Given the description of an element on the screen output the (x, y) to click on. 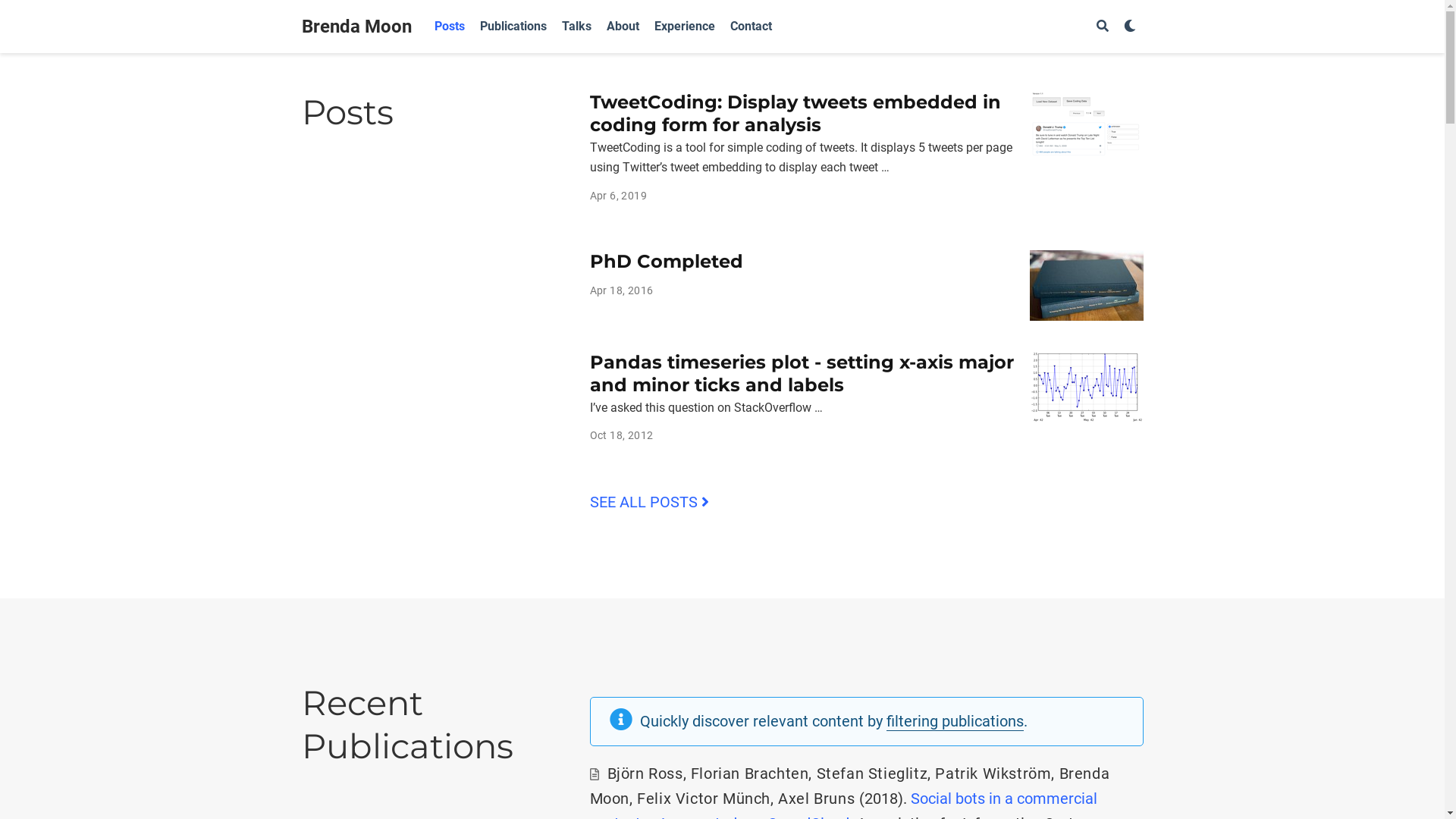
Talks Element type: text (575, 26)
filtering publications Element type: text (953, 721)
Posts Element type: text (448, 26)
Publications Element type: text (512, 26)
SEE ALL POSTS Element type: text (649, 501)
Brenda Moon Element type: text (356, 26)
Contact Element type: text (749, 26)
Stefan Stieglitz Element type: text (872, 773)
Brenda Moon Element type: text (849, 785)
Axel Bruns Element type: text (816, 798)
About Element type: text (622, 26)
PhD Completed Element type: text (666, 261)
Experience Element type: text (683, 26)
Florian Brachten Element type: text (749, 773)
